Given the description of an element on the screen output the (x, y) to click on. 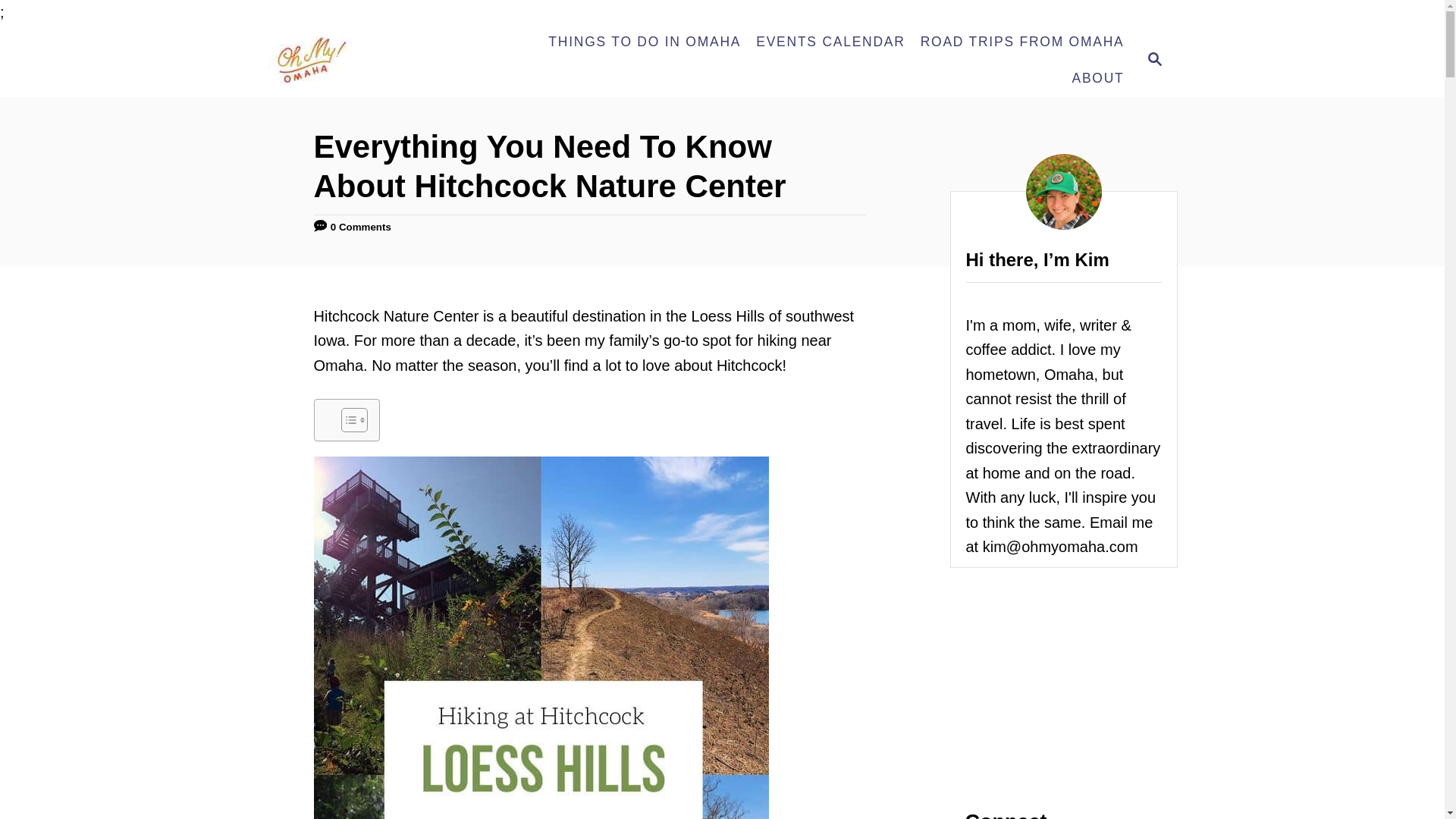
SEARCH (1153, 60)
EVENTS CALENDAR (830, 42)
THINGS TO DO IN OMAHA (644, 42)
ROAD TRIPS FROM OMAHA (1022, 42)
Oh My! Omaha (377, 60)
ABOUT (1097, 79)
